Given the description of an element on the screen output the (x, y) to click on. 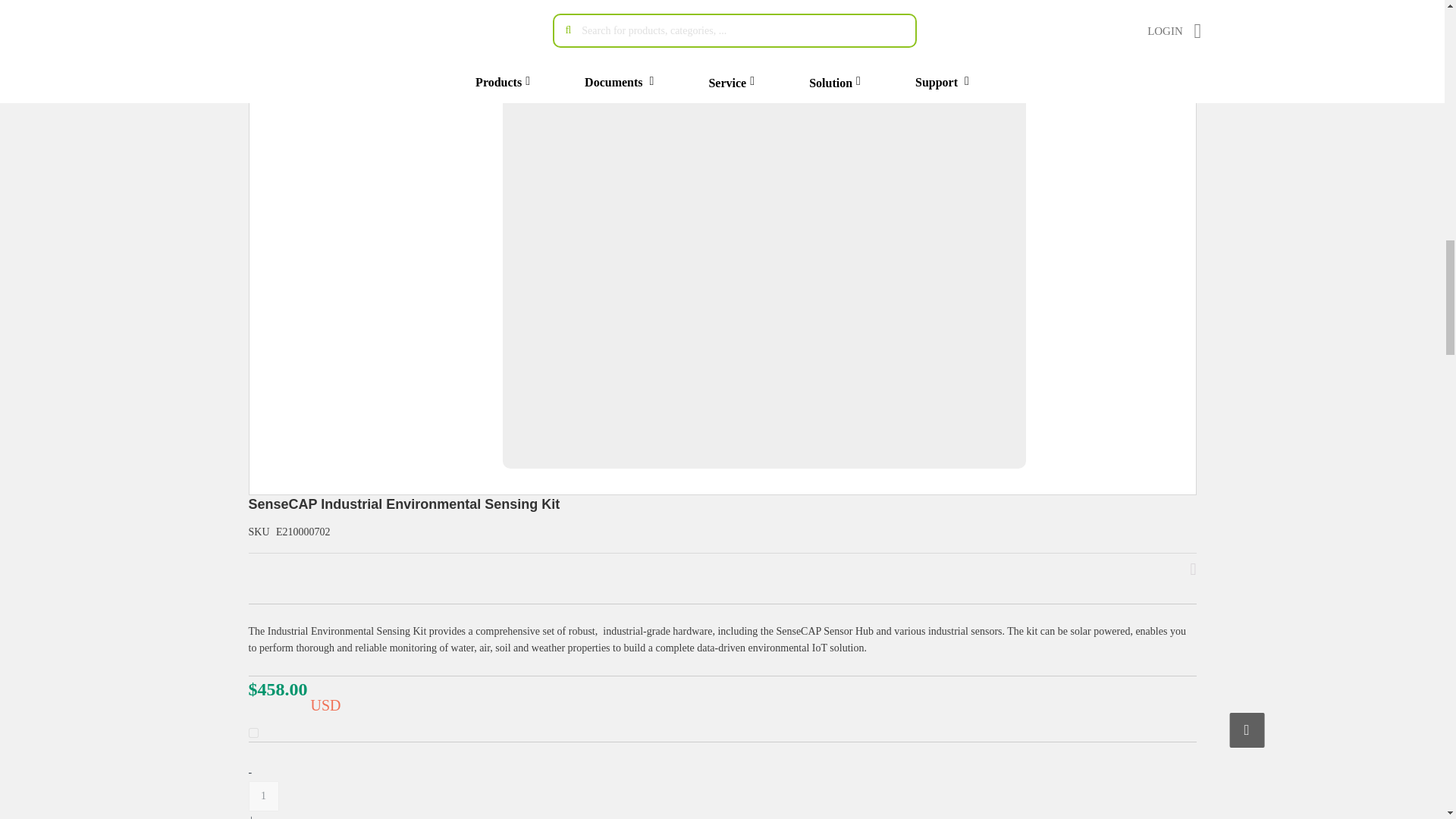
Quantity (263, 796)
1 (263, 796)
on (253, 732)
